Given the description of an element on the screen output the (x, y) to click on. 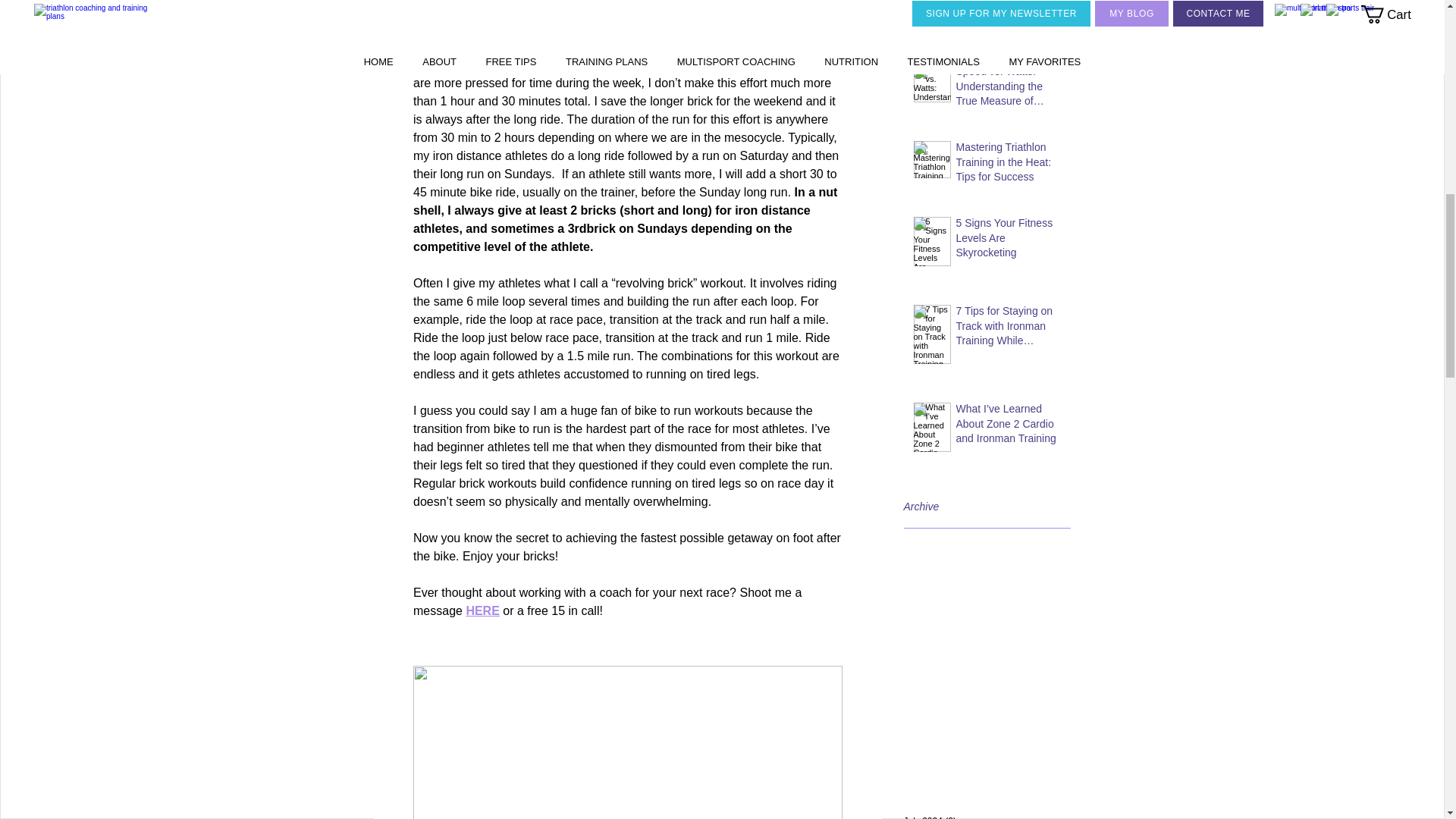
HERE (482, 610)
